Given the description of an element on the screen output the (x, y) to click on. 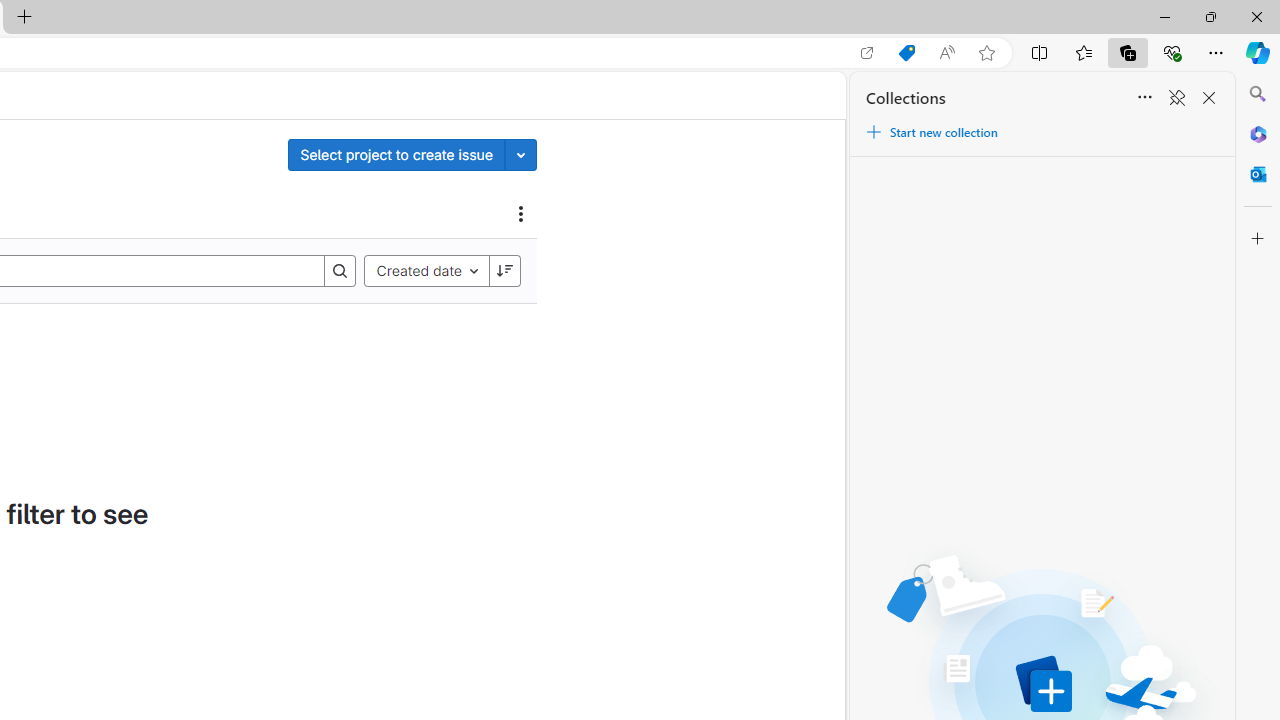
Close Collections (1208, 98)
Start new collection (931, 132)
Actions (521, 213)
Created date (426, 270)
Select project to create issue (396, 154)
